Given the description of an element on the screen output the (x, y) to click on. 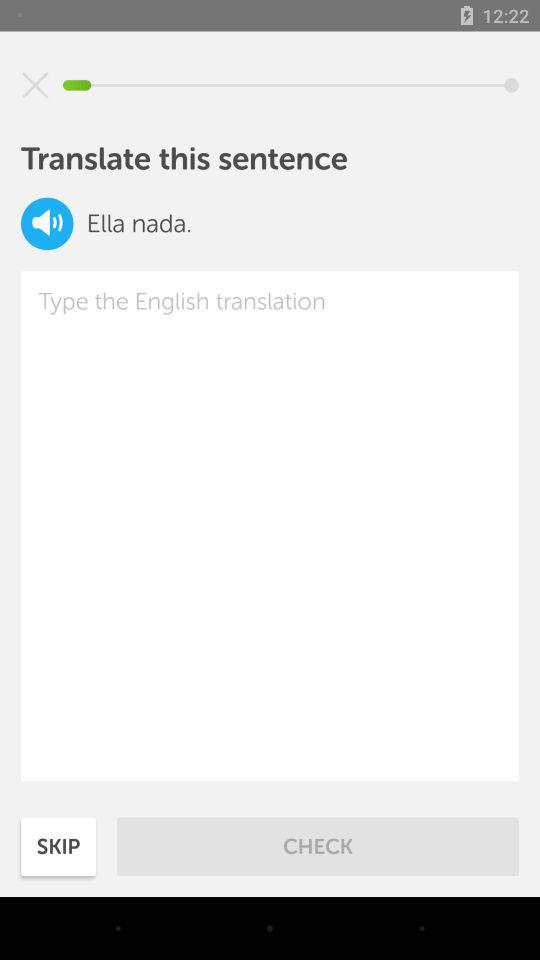
swipe to skip (58, 846)
